Given the description of an element on the screen output the (x, y) to click on. 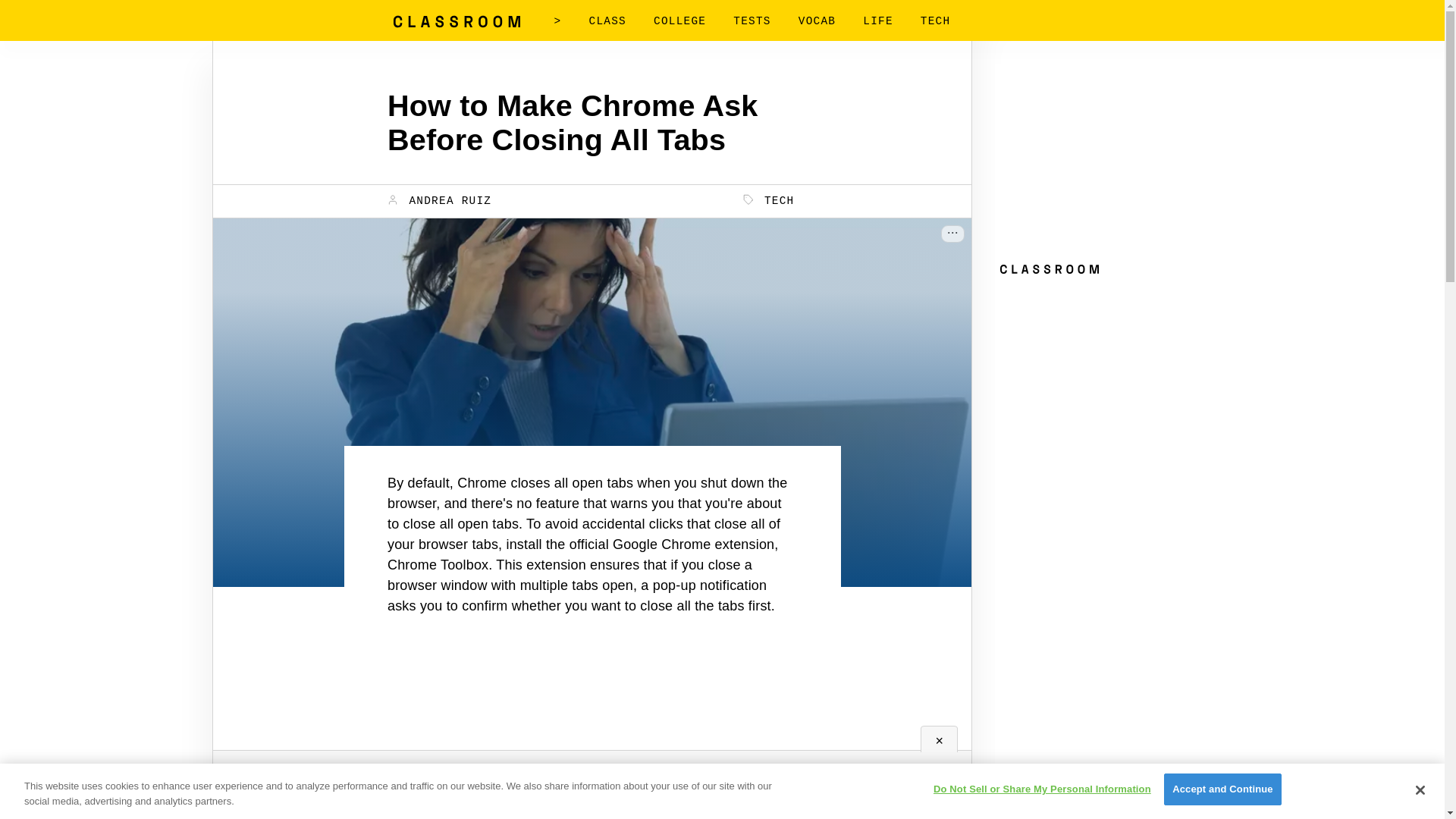
TECH (935, 21)
LIFE (878, 21)
3rd party ad content (591, 704)
TECH (768, 200)
3rd party ad content (1108, 376)
Do Not Sell or Share My Personal Information (1042, 788)
Advertisement (591, 793)
Accept and Continue (1222, 789)
3rd party ad content (1108, 158)
COLLEGE (679, 21)
VOCAB (816, 21)
CLASS (607, 21)
TESTS (751, 21)
